Given the description of an element on the screen output the (x, y) to click on. 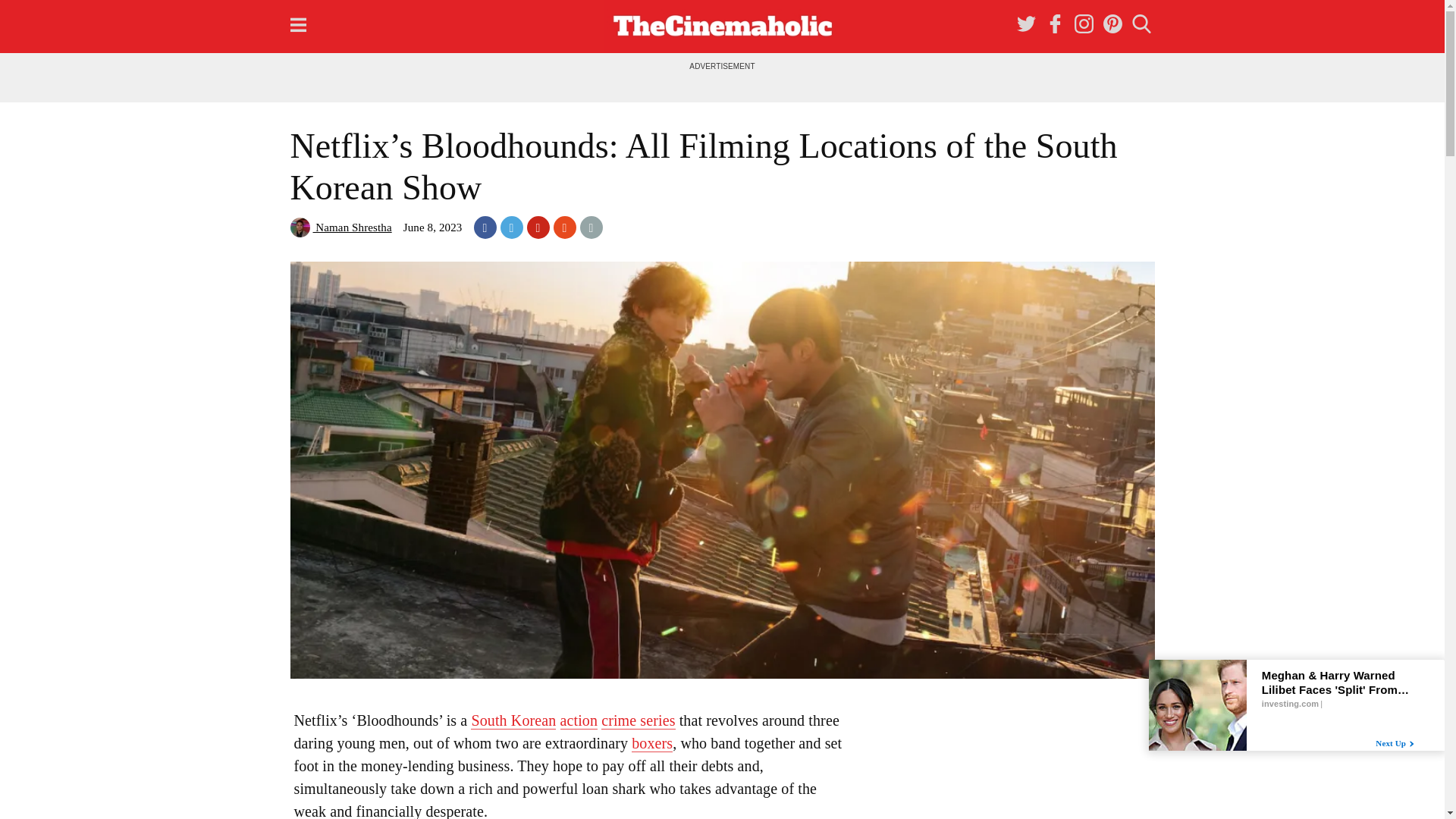
South Korean (513, 720)
Naman Shrestha (340, 227)
crime series (638, 720)
action (577, 720)
boxers (651, 743)
